Given the description of an element on the screen output the (x, y) to click on. 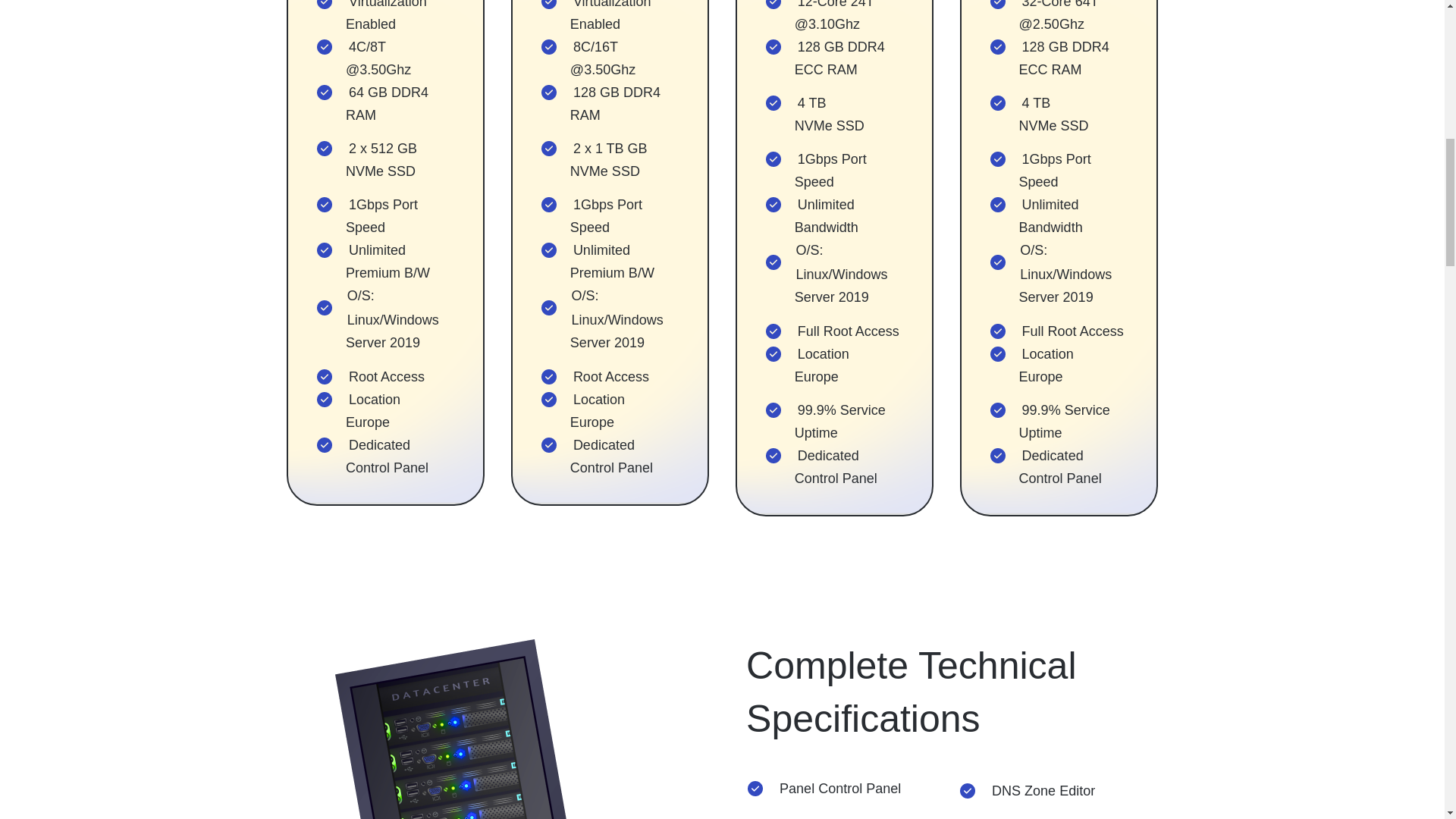
hero-img-complete (491, 729)
